Given the description of an element on the screen output the (x, y) to click on. 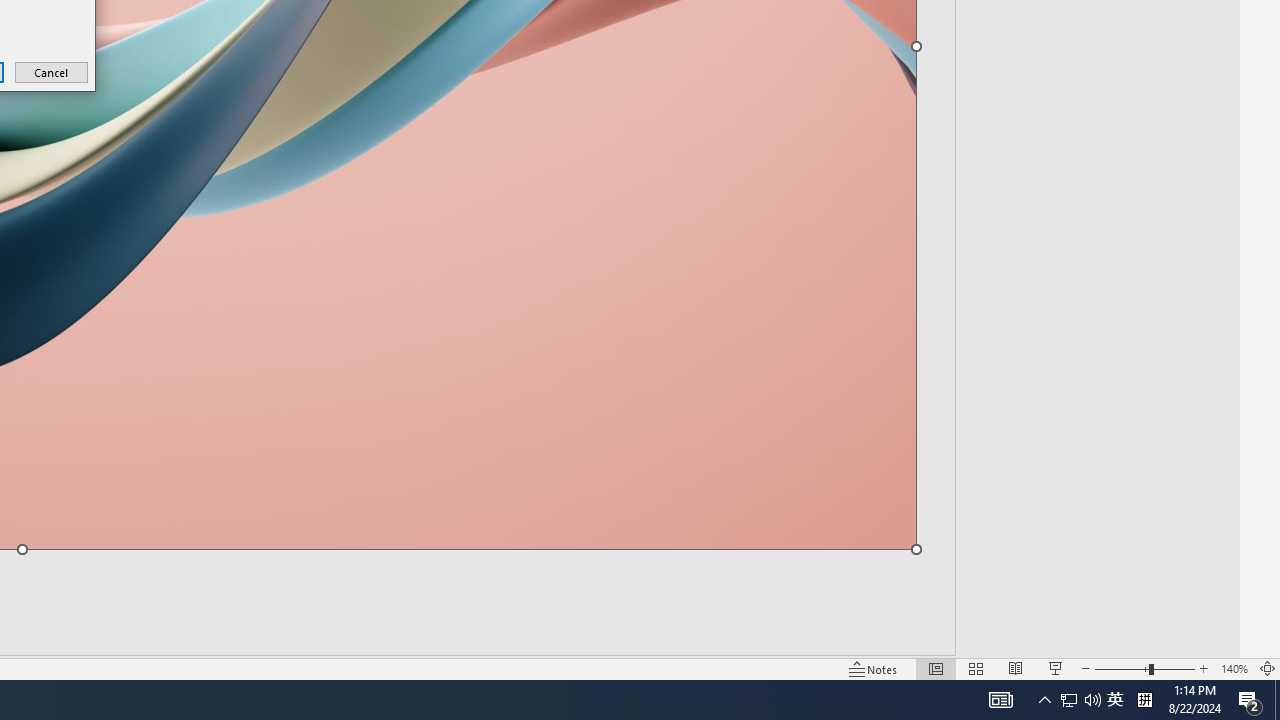
Zoom 140% (1234, 668)
